Given the description of an element on the screen output the (x, y) to click on. 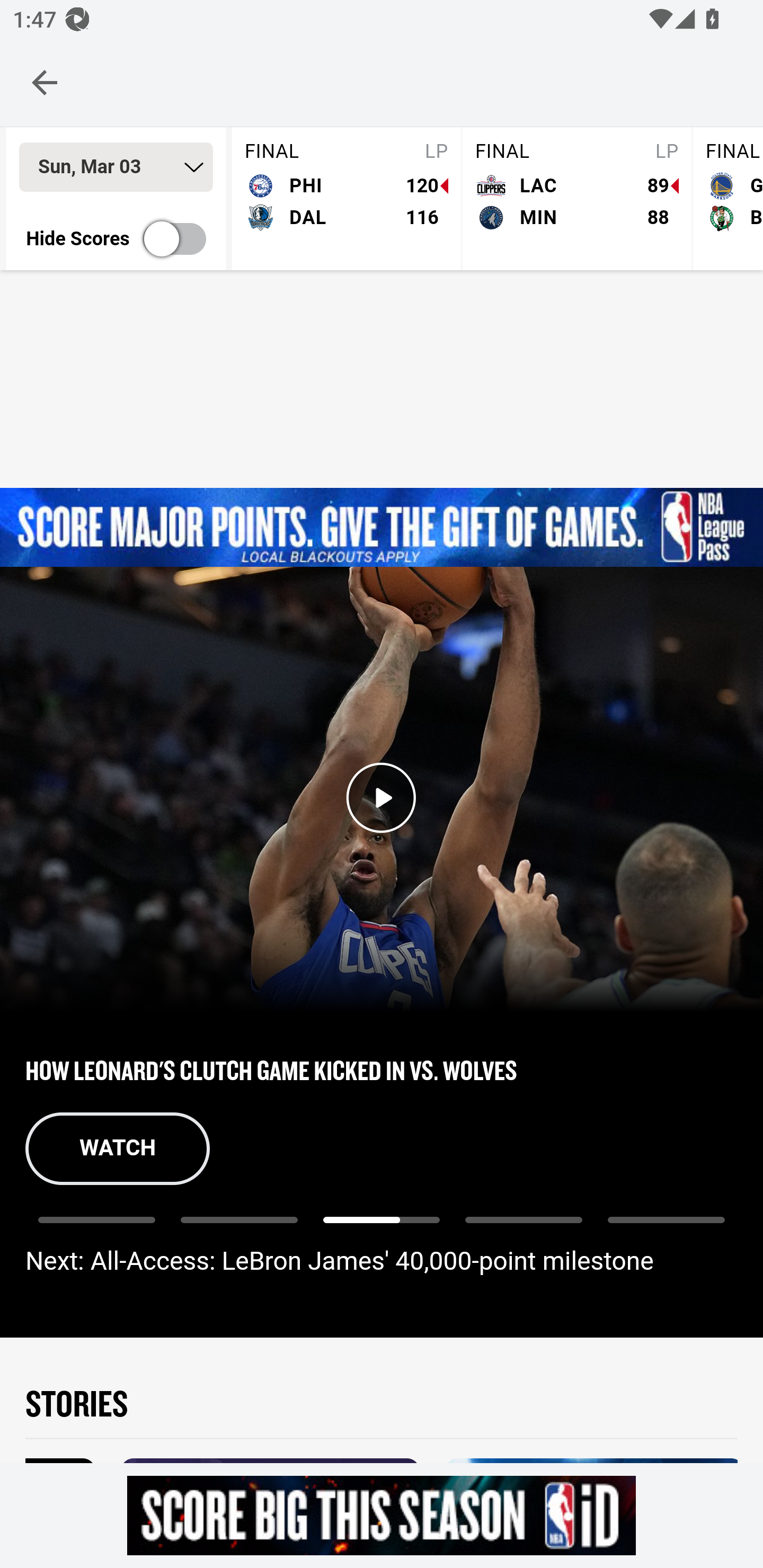
Navigate up (44, 82)
Sun, Mar 03 (115, 166)
Tune In Banner (381, 527)
Event Icon (381, 798)
SGA, WEST-LEADING THUNDER HALT SUNS' COMEBACK (381, 1069)
WATCH (118, 1148)
Link For Wemby Watch: Kia ROY race heats up & more (665, 1229)
